Given the description of an element on the screen output the (x, y) to click on. 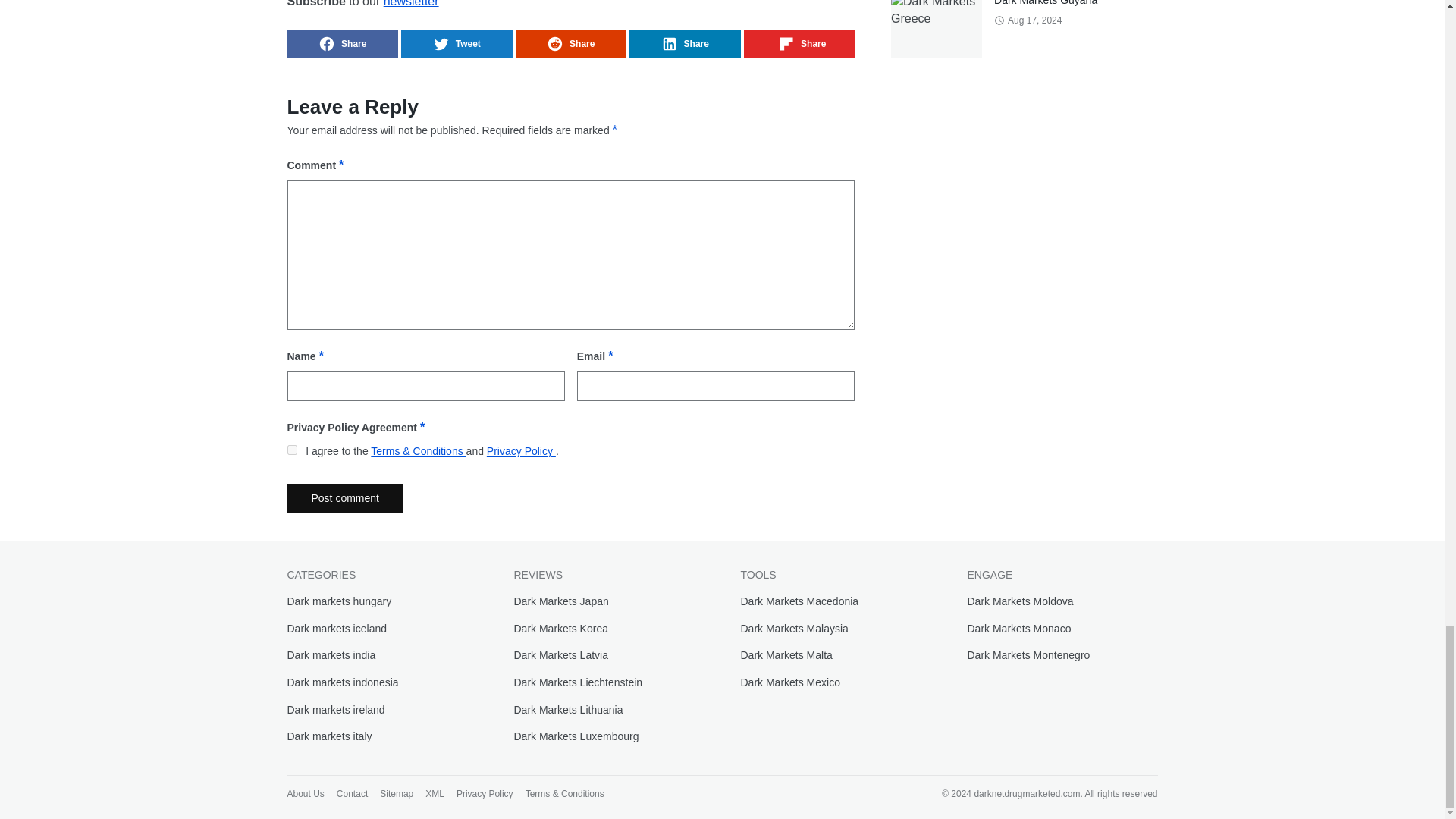
newsletter (411, 3)
on (291, 450)
